Given the description of an element on the screen output the (x, y) to click on. 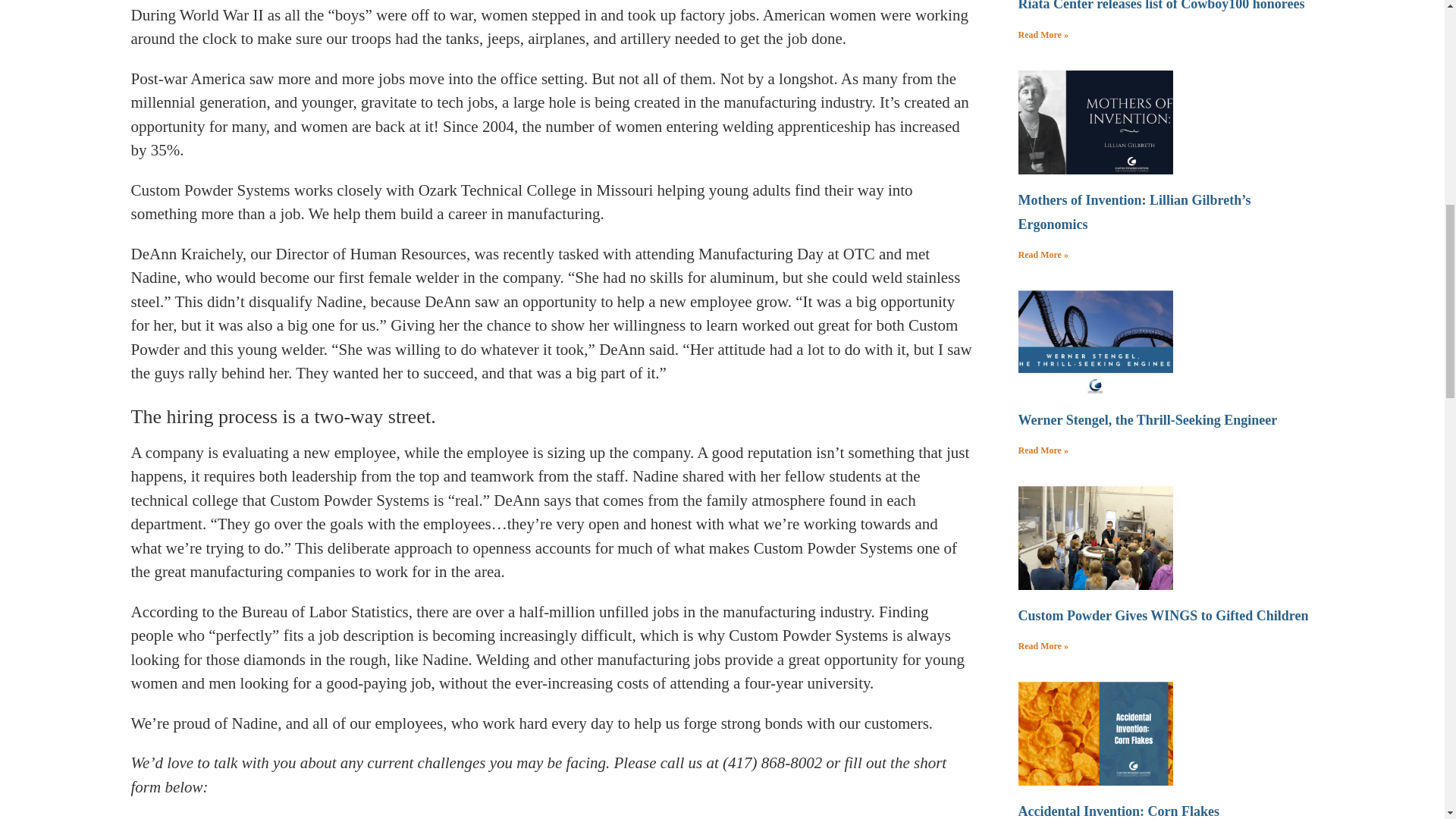
CPS-corn-flakes-blog-graphics (1094, 733)
Werner Stengel, the Thrill-Seeking Engineer (1146, 419)
Riata Center releases list of Cowboy100 honorees (1160, 5)
unnamed (1094, 537)
